Given the description of an element on the screen output the (x, y) to click on. 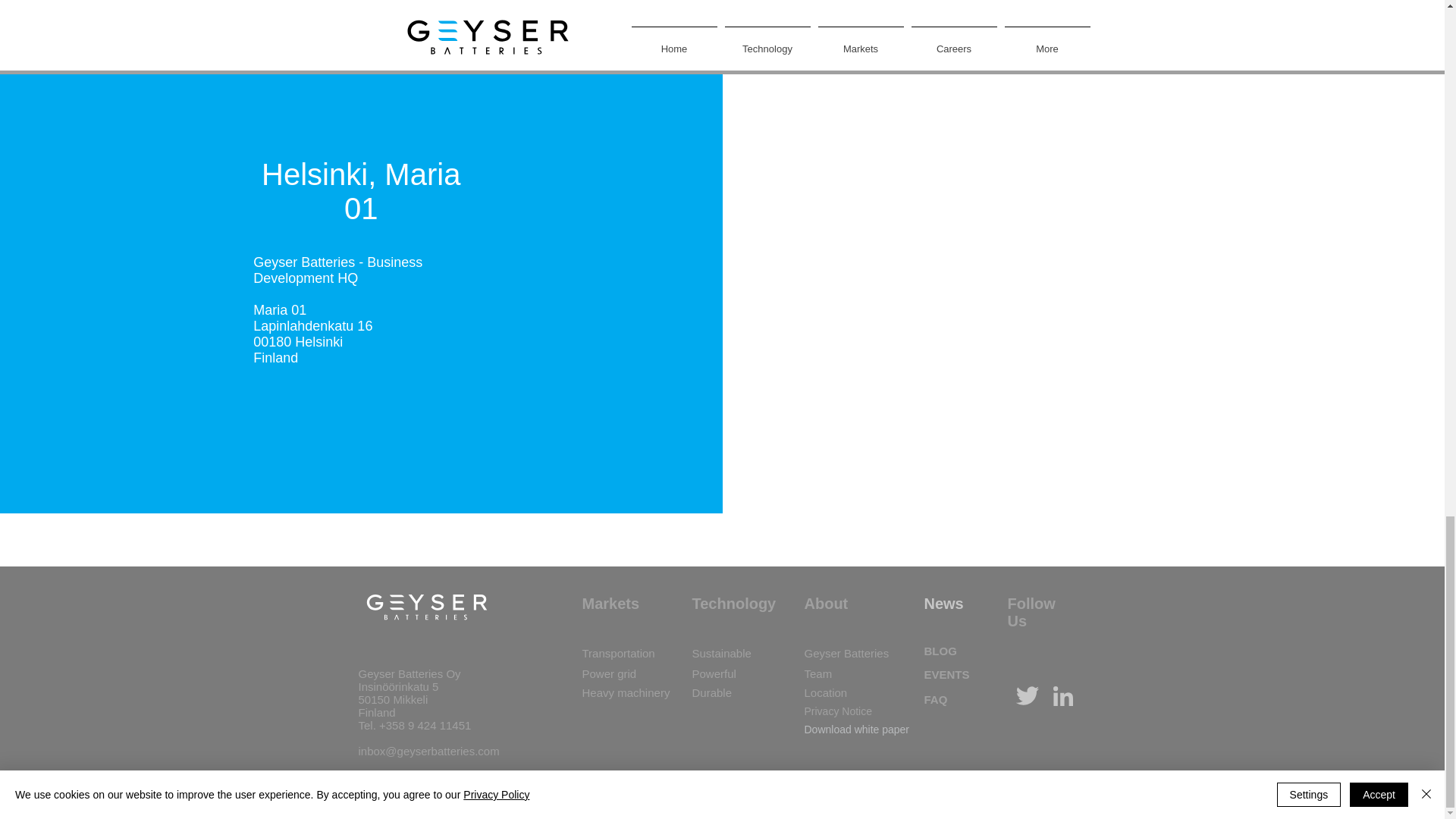
Follow Us (1030, 612)
Durable (711, 692)
Location (825, 692)
Sustainable (721, 653)
FAQ (935, 698)
EVENTS (946, 674)
Heavy machinery (625, 692)
Markets (611, 603)
BLOG (939, 650)
Team (817, 673)
